Given the description of an element on the screen output the (x, y) to click on. 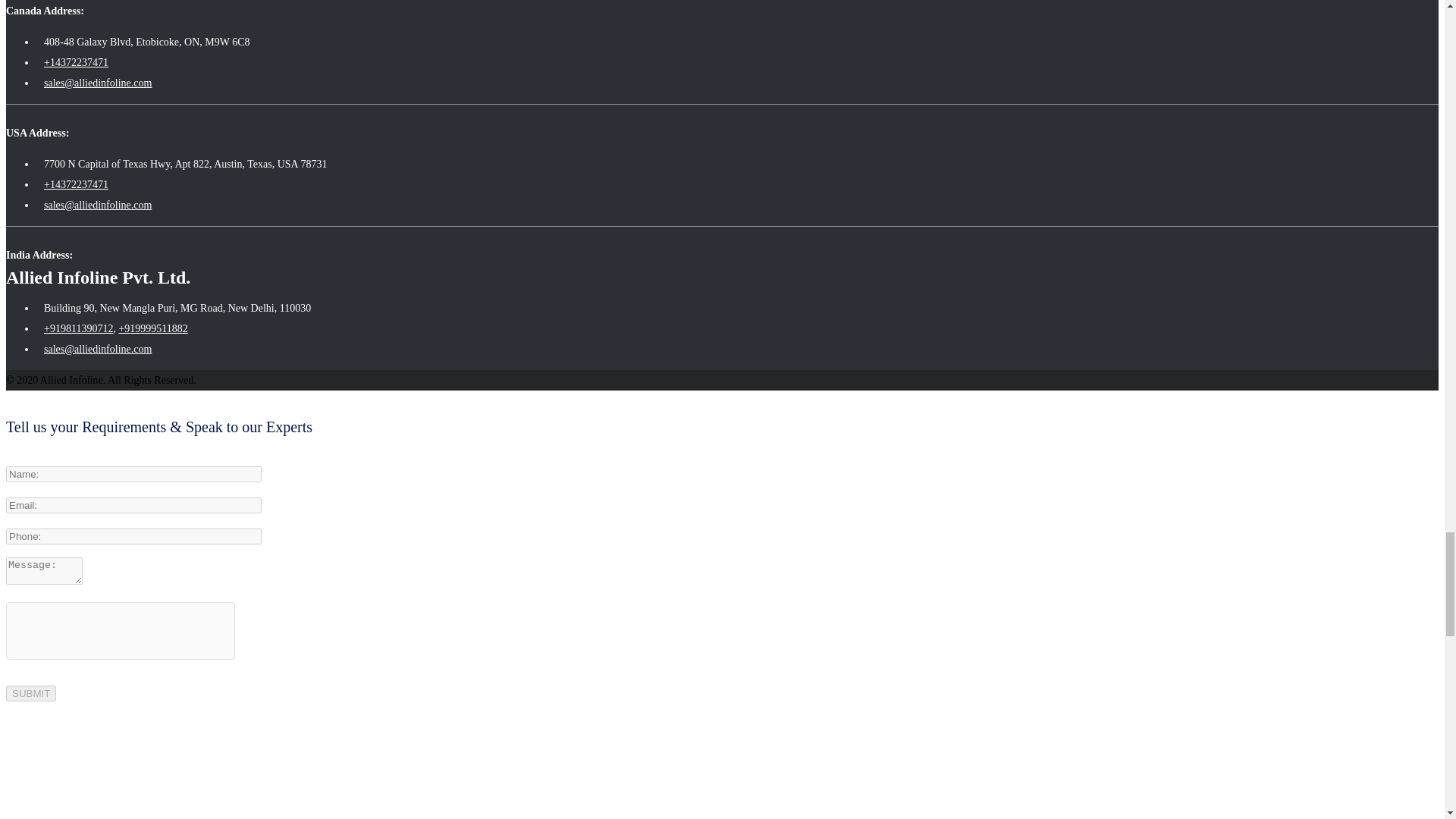
SUBMIT (30, 693)
